Given the description of an element on the screen output the (x, y) to click on. 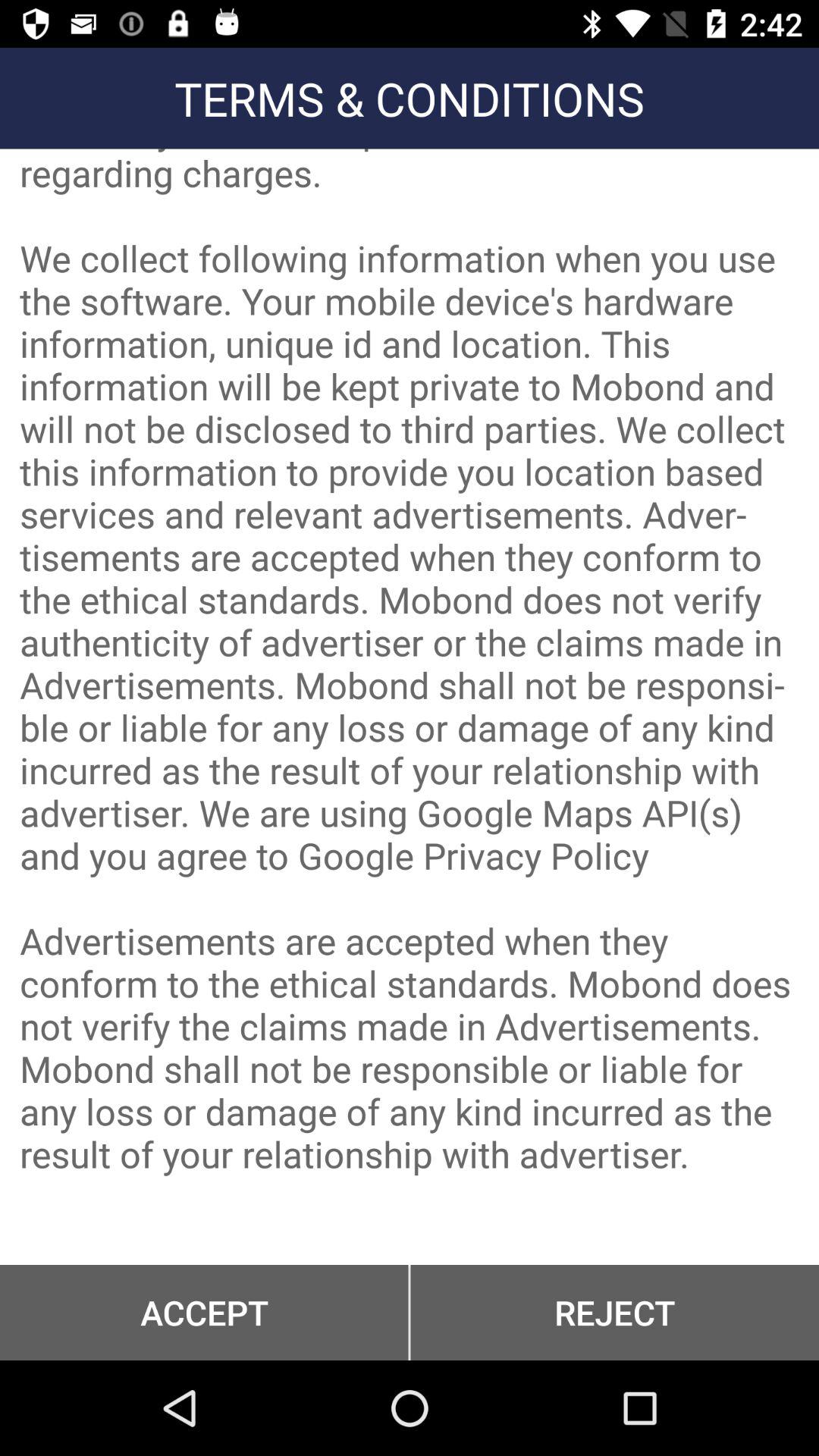
click button at the bottom left corner (204, 1312)
